Given the description of an element on the screen output the (x, y) to click on. 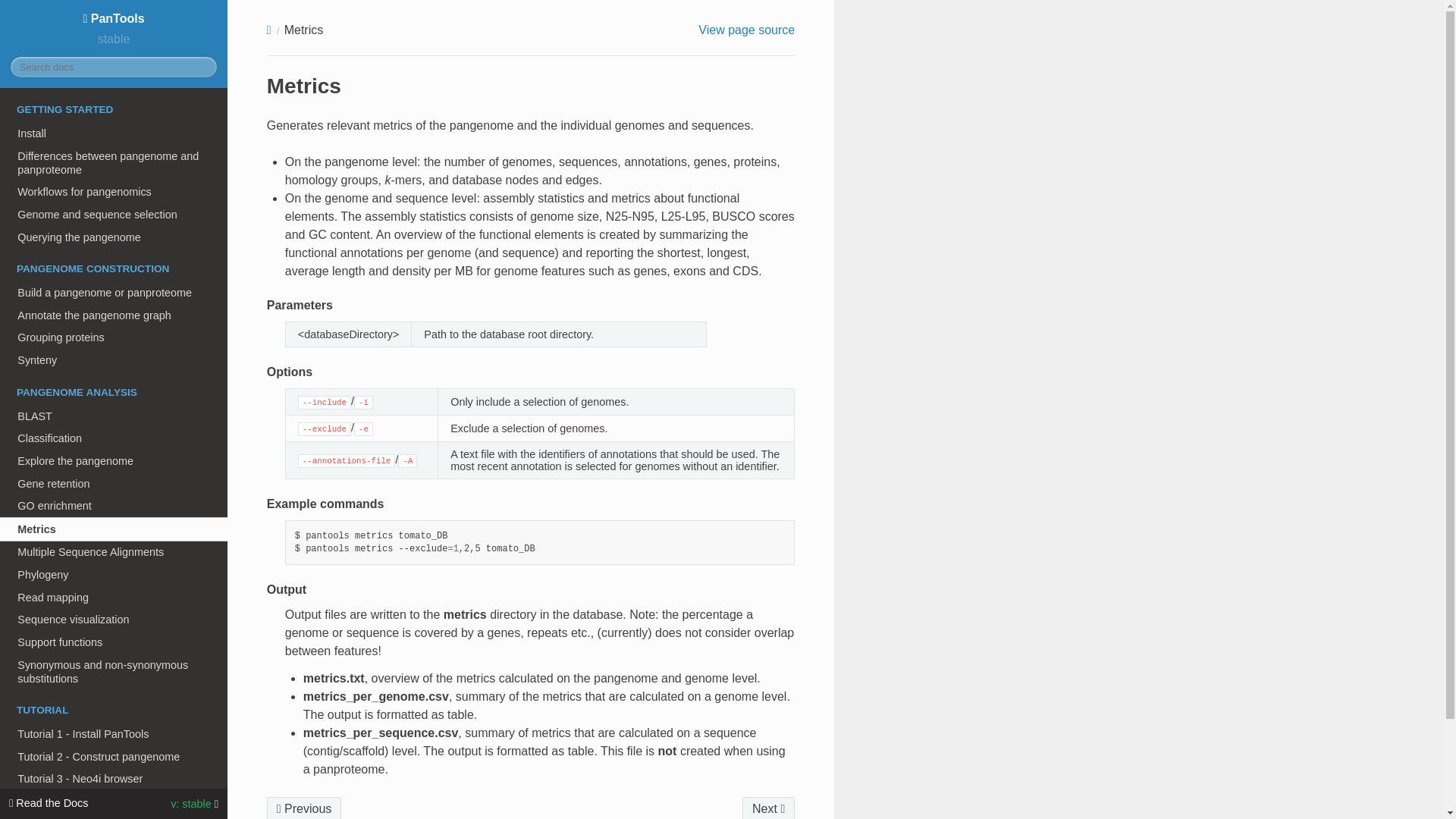
GO enrichment (113, 505)
Tutorial 2 - Construct pangenome (113, 756)
Synonymous and non-synonymous substitutions (113, 671)
Workflows for pangenomics (113, 191)
Install (113, 133)
Grouping proteins (113, 337)
Classification (113, 437)
Multiple Sequence Alignments (113, 552)
Annotate the pangenome graph (113, 314)
Tutorial 1 - Install PanTools (113, 733)
